Given the description of an element on the screen output the (x, y) to click on. 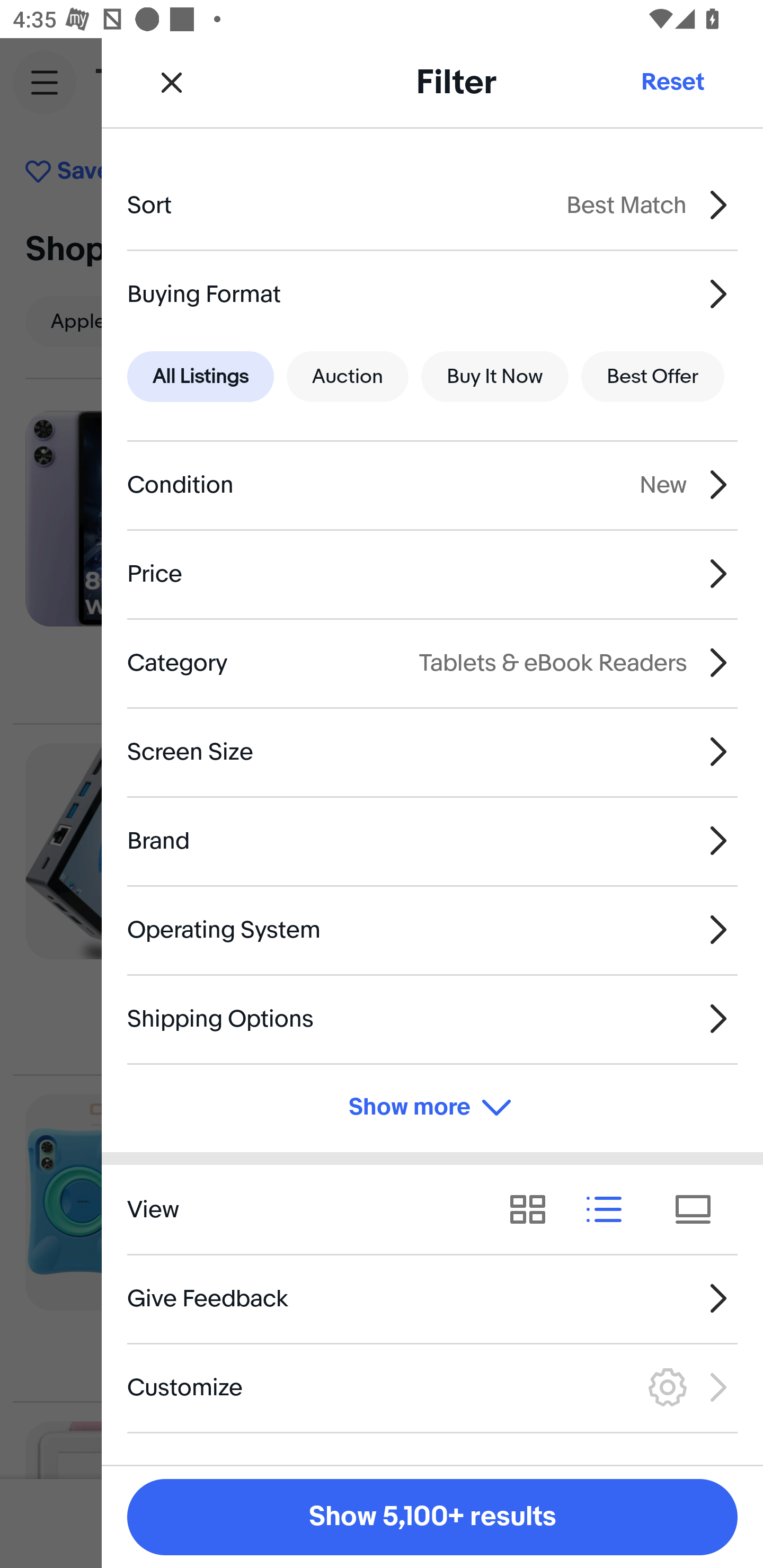
Close Filter (171, 81)
Reset (672, 81)
Buying Format (432, 293)
All Listings (200, 376)
Auction (347, 376)
Buy It Now (494, 376)
Best Offer (652, 376)
Condition New (432, 484)
Price (432, 573)
Category Tablets & eBook Readers (432, 662)
Screen Size (432, 751)
Brand (432, 840)
Operating System (432, 929)
Shipping Options (432, 1018)
Show more (432, 1107)
View results as grid (533, 1209)
View results as list (610, 1209)
View results as tiles (699, 1209)
